Given the description of an element on the screen output the (x, y) to click on. 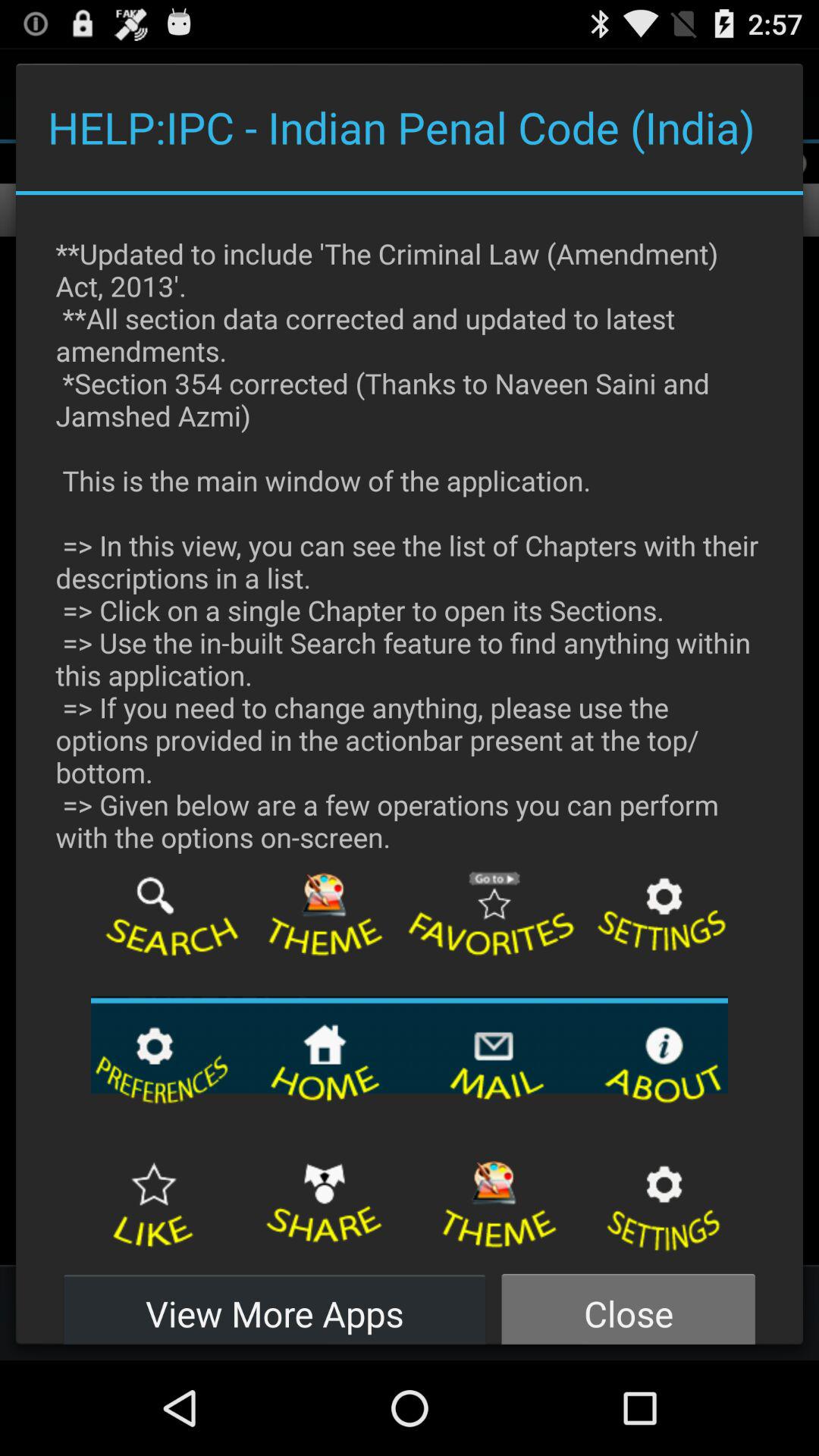
launch close icon (628, 1305)
